Given the description of an element on the screen output the (x, y) to click on. 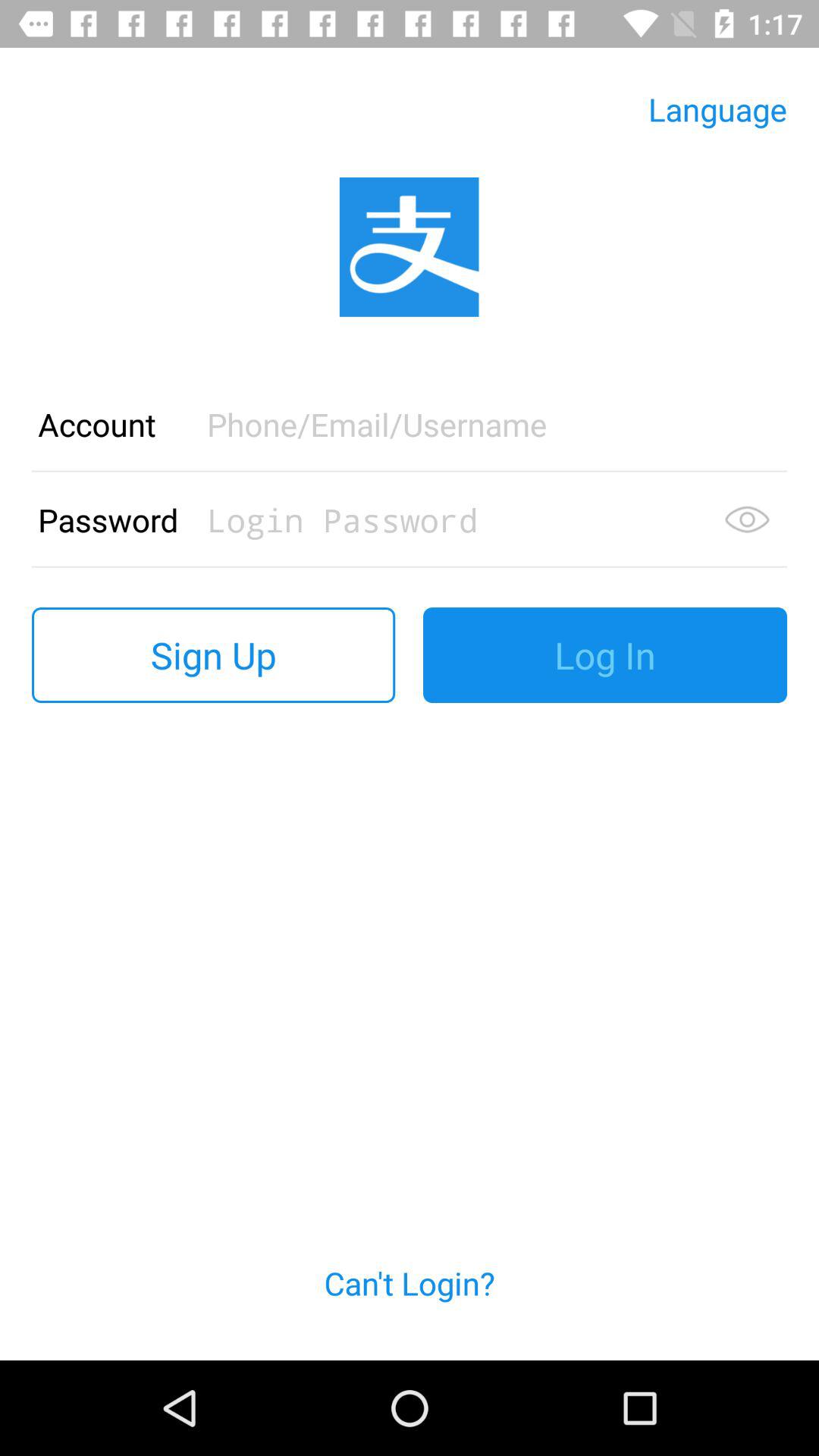
launch button to the right of sign up button (605, 654)
